Given the description of an element on the screen output the (x, y) to click on. 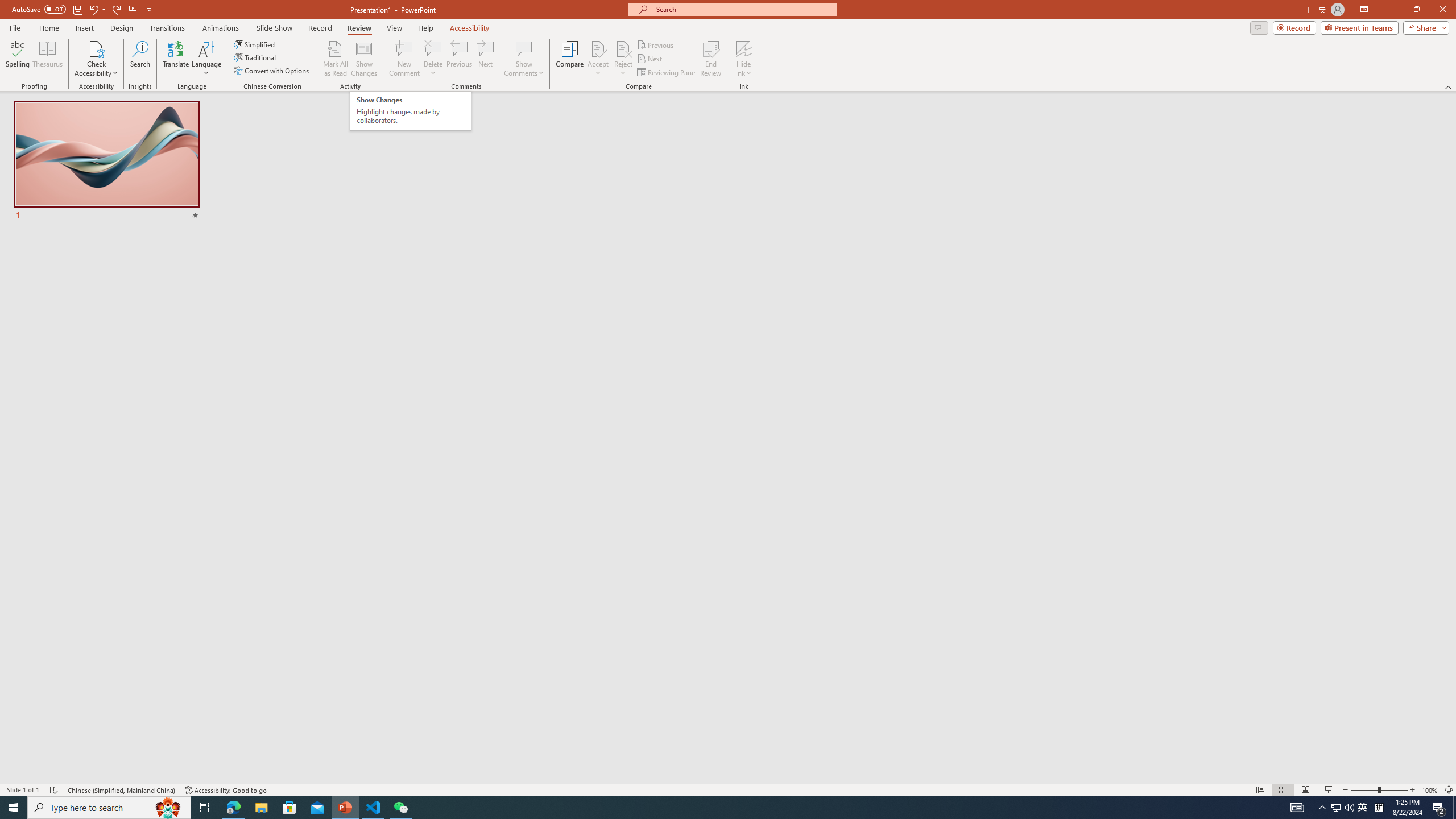
Reject (622, 58)
